Given the description of an element on the screen output the (x, y) to click on. 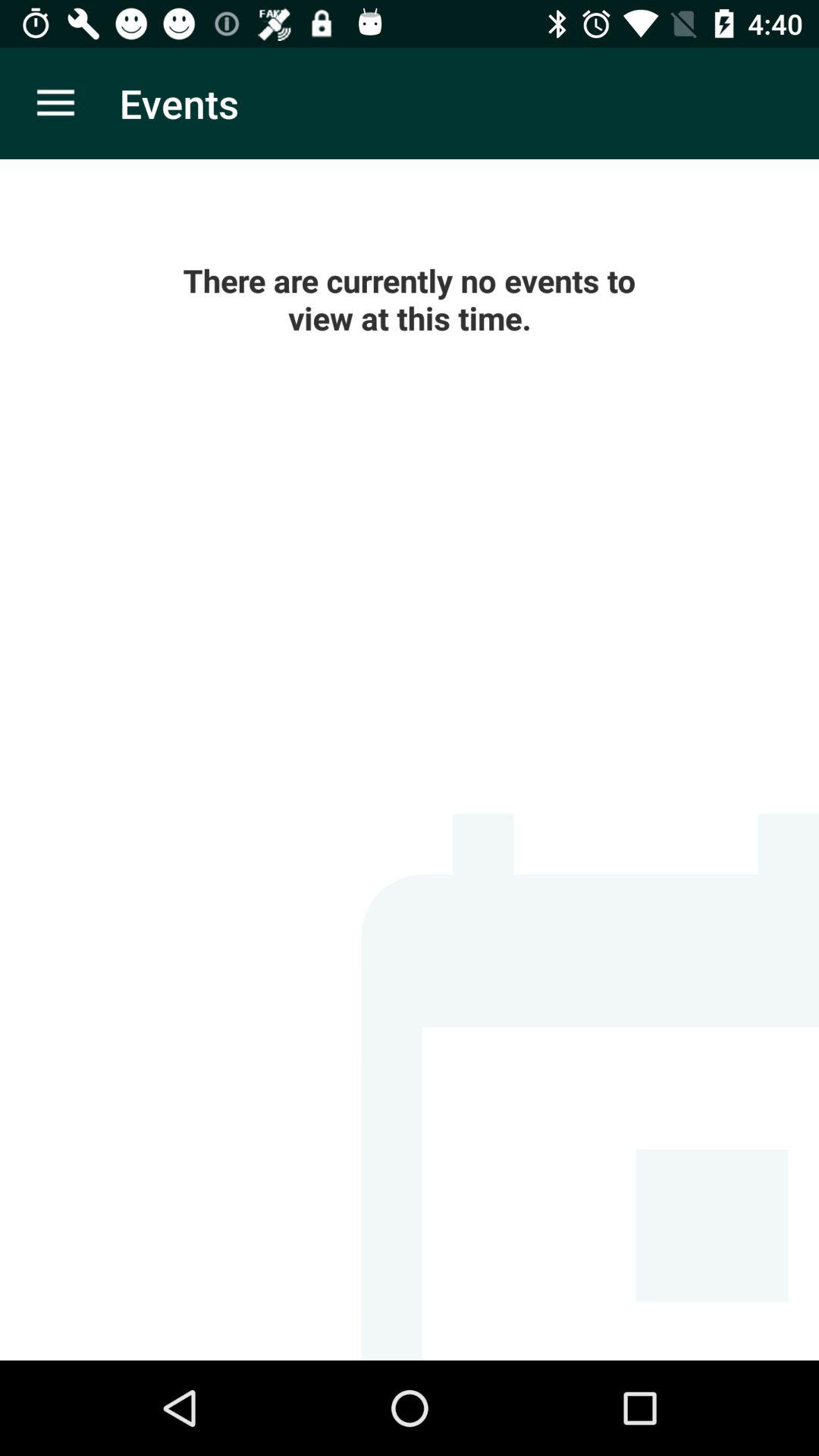
turn on item to the left of the events icon (55, 103)
